Given the description of an element on the screen output the (x, y) to click on. 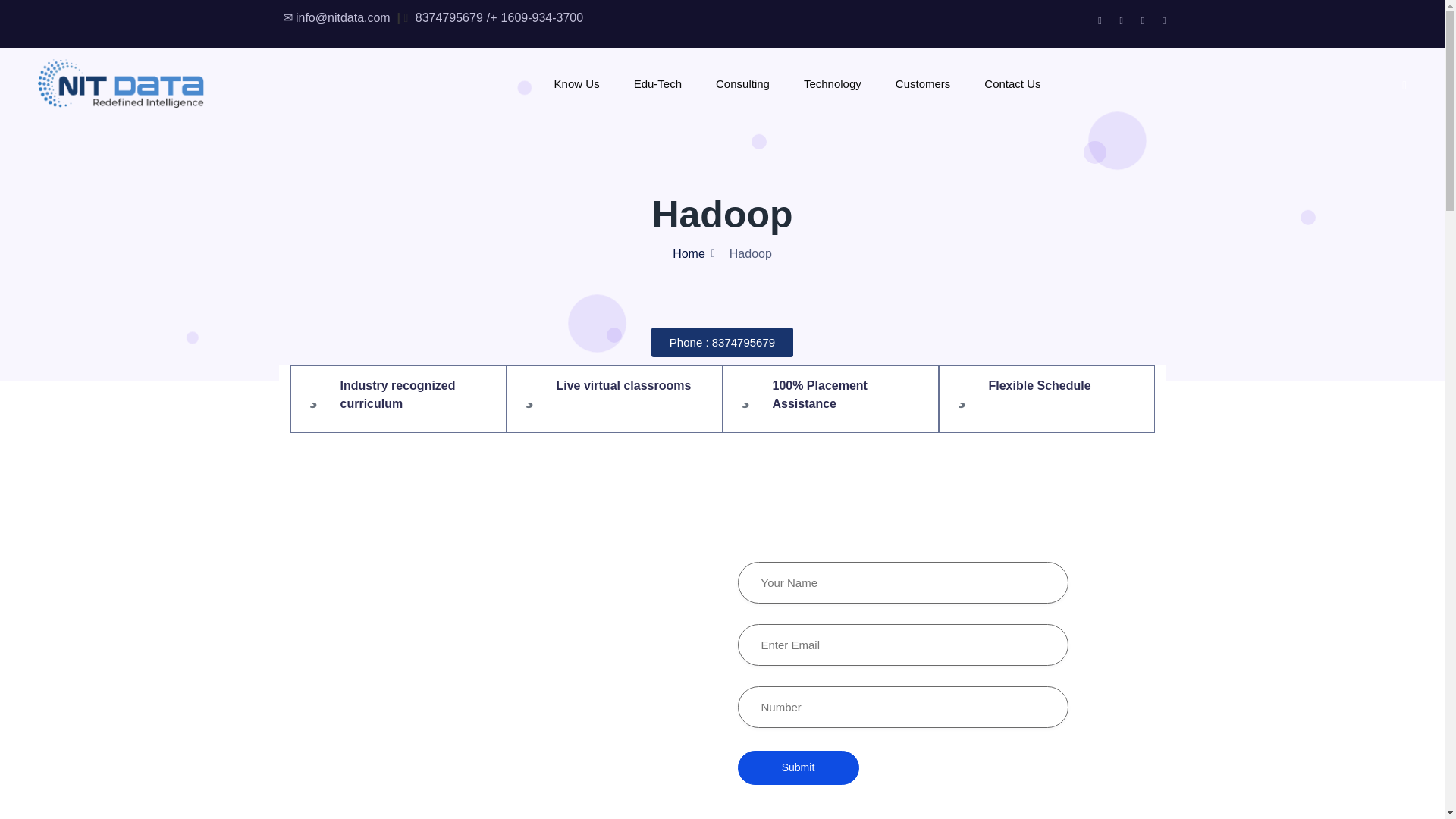
Know Us (576, 83)
Submit (797, 767)
1609-934-3700 (540, 17)
Edu-Tech (657, 83)
8374795679 (447, 17)
